Given the description of an element on the screen output the (x, y) to click on. 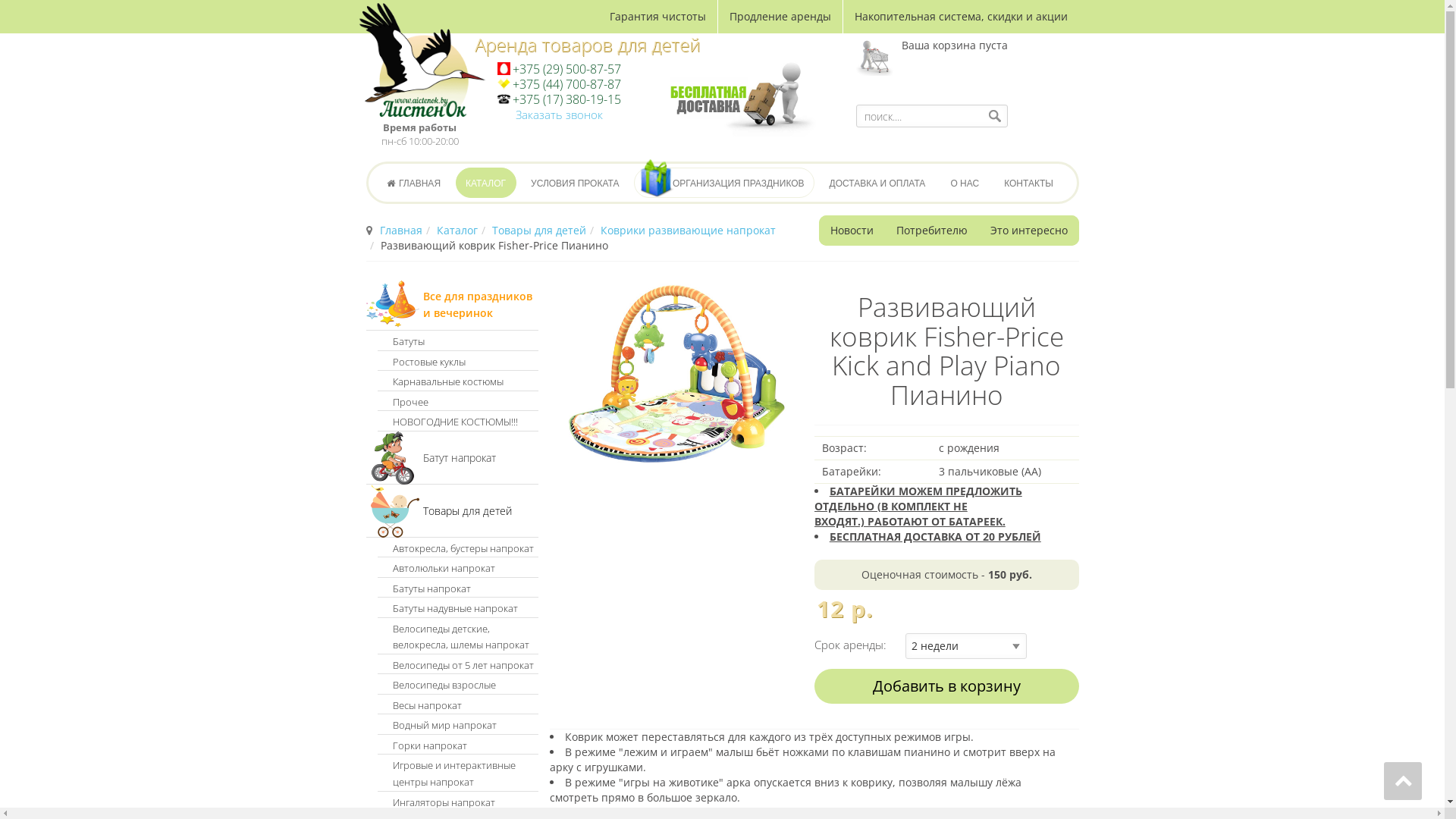
Go to top Element type: hover (1402, 781)
